Given the description of an element on the screen output the (x, y) to click on. 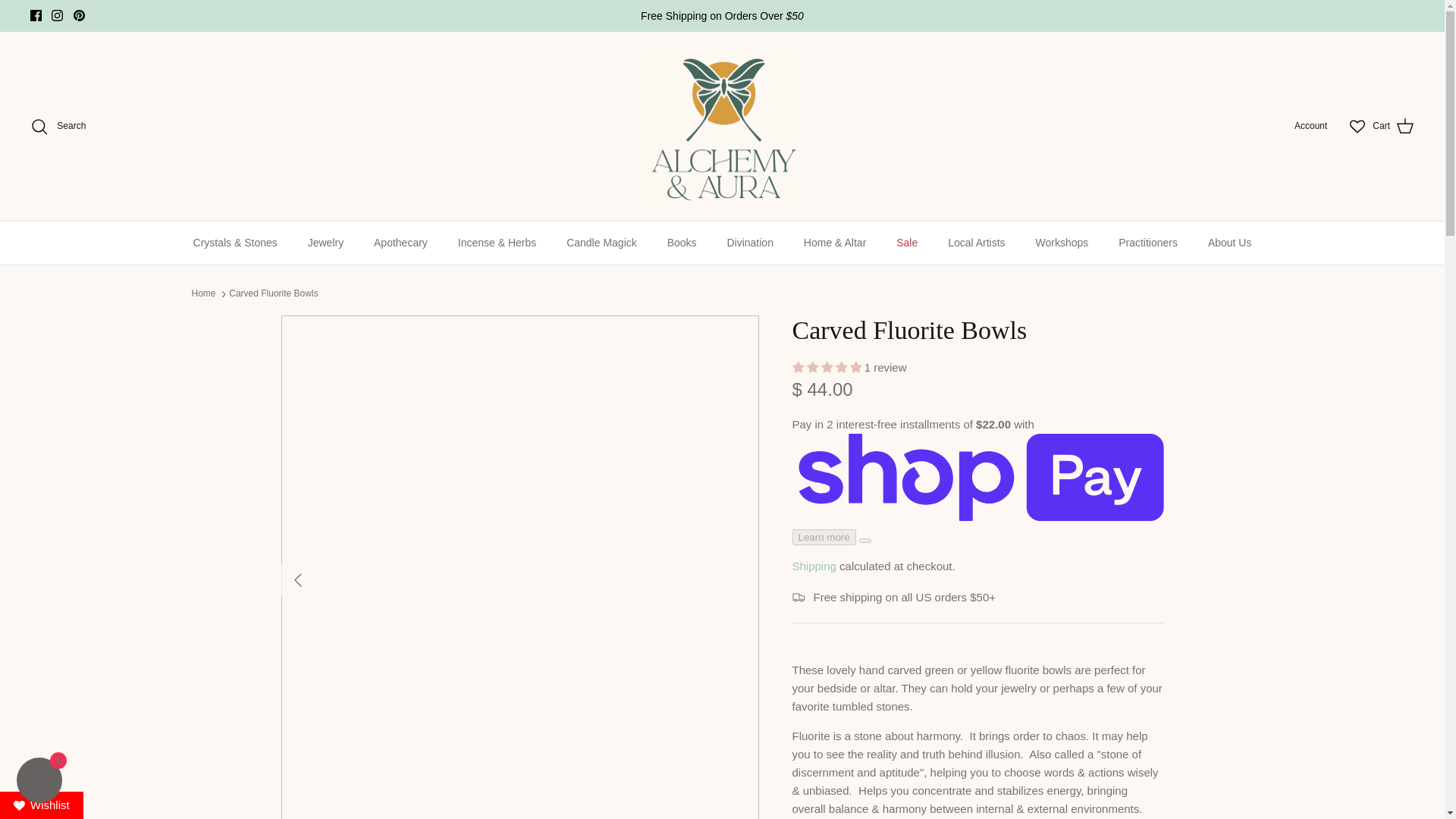
Shopify online store chat (38, 781)
Instagram (56, 15)
Facebook (36, 15)
Instagram (56, 15)
Cart (1393, 126)
Pinterest (79, 15)
Account (1310, 125)
LEFT (296, 580)
Pinterest (79, 15)
Facebook (36, 15)
Search (57, 126)
